Given the description of an element on the screen output the (x, y) to click on. 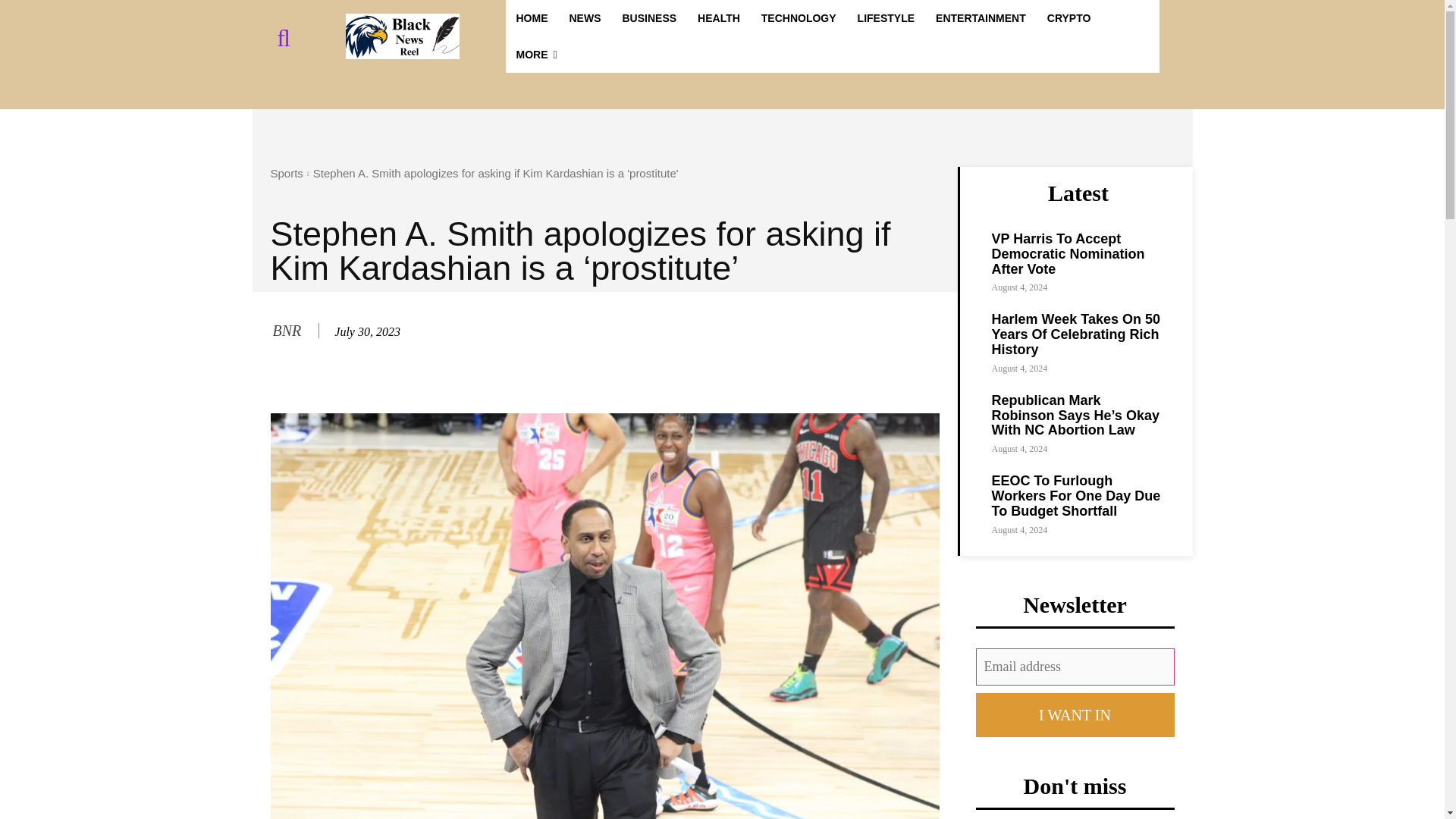
LIFESTYLE (885, 18)
View all posts in Sports (285, 173)
ENTERTAINMENT (980, 18)
HOME (531, 18)
CRYPTO (1069, 18)
BUSINESS (649, 18)
TECHNOLOGY (799, 18)
NEWS (584, 18)
HEALTH (719, 18)
